Given the description of an element on the screen output the (x, y) to click on. 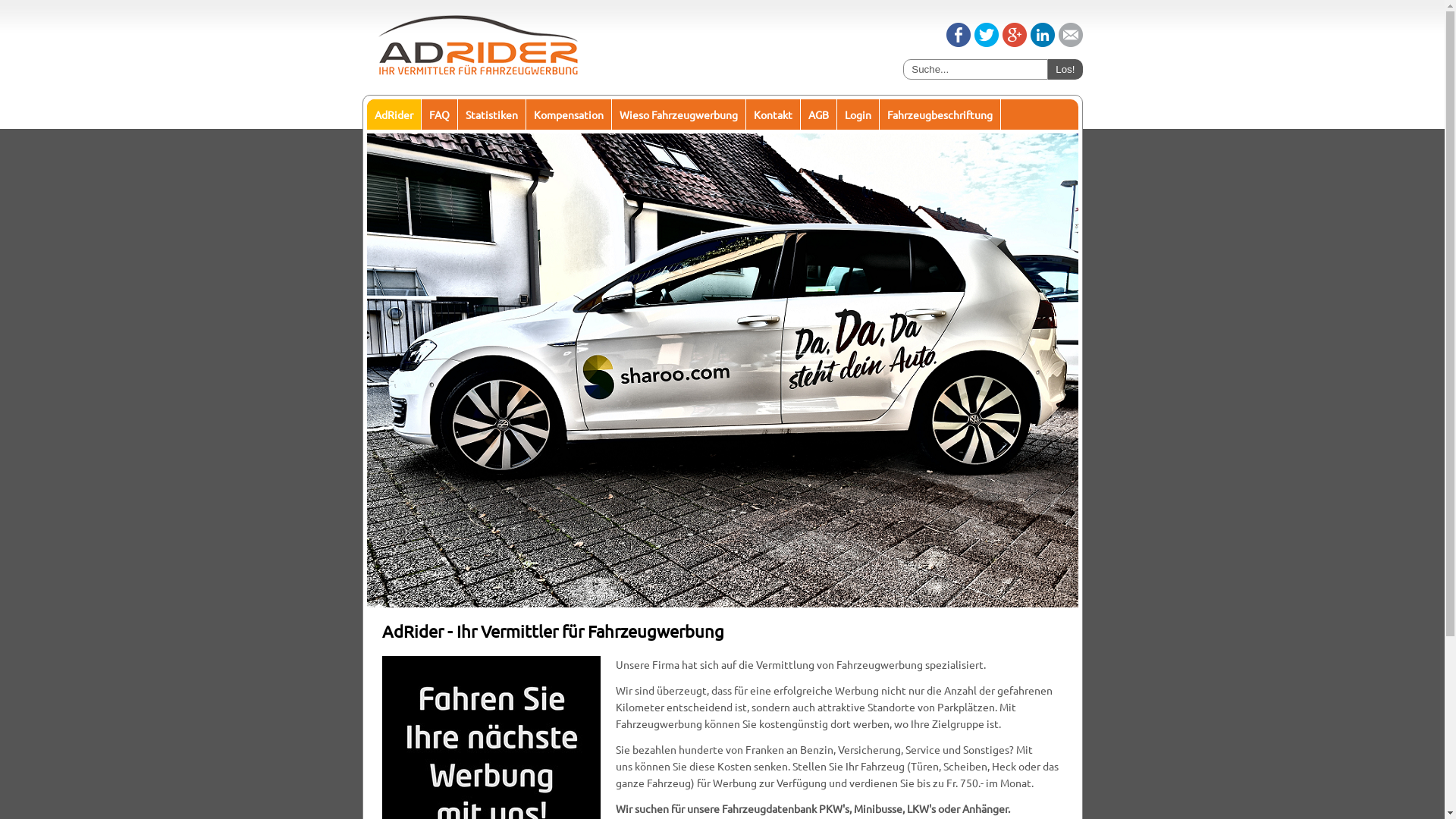
Los! Element type: text (1065, 69)
AGB Element type: text (818, 114)
Share on Facebook Element type: hover (958, 42)
Kompensation Element type: text (568, 114)
FAQ Element type: text (439, 114)
Kontakt Element type: text (773, 114)
Wieso Fahrzeugwerbung Element type: text (678, 114)
Login Element type: text (858, 114)
Email Element type: hover (1070, 42)
Tweet Element type: hover (985, 42)
Statistiken Element type: text (492, 114)
Fahrzeugbeschriftung Element type: text (940, 114)
Share on LinkedIn Element type: hover (1041, 42)
Share on Google+ Element type: hover (1014, 42)
AdRider Element type: text (394, 114)
